Given the description of an element on the screen output the (x, y) to click on. 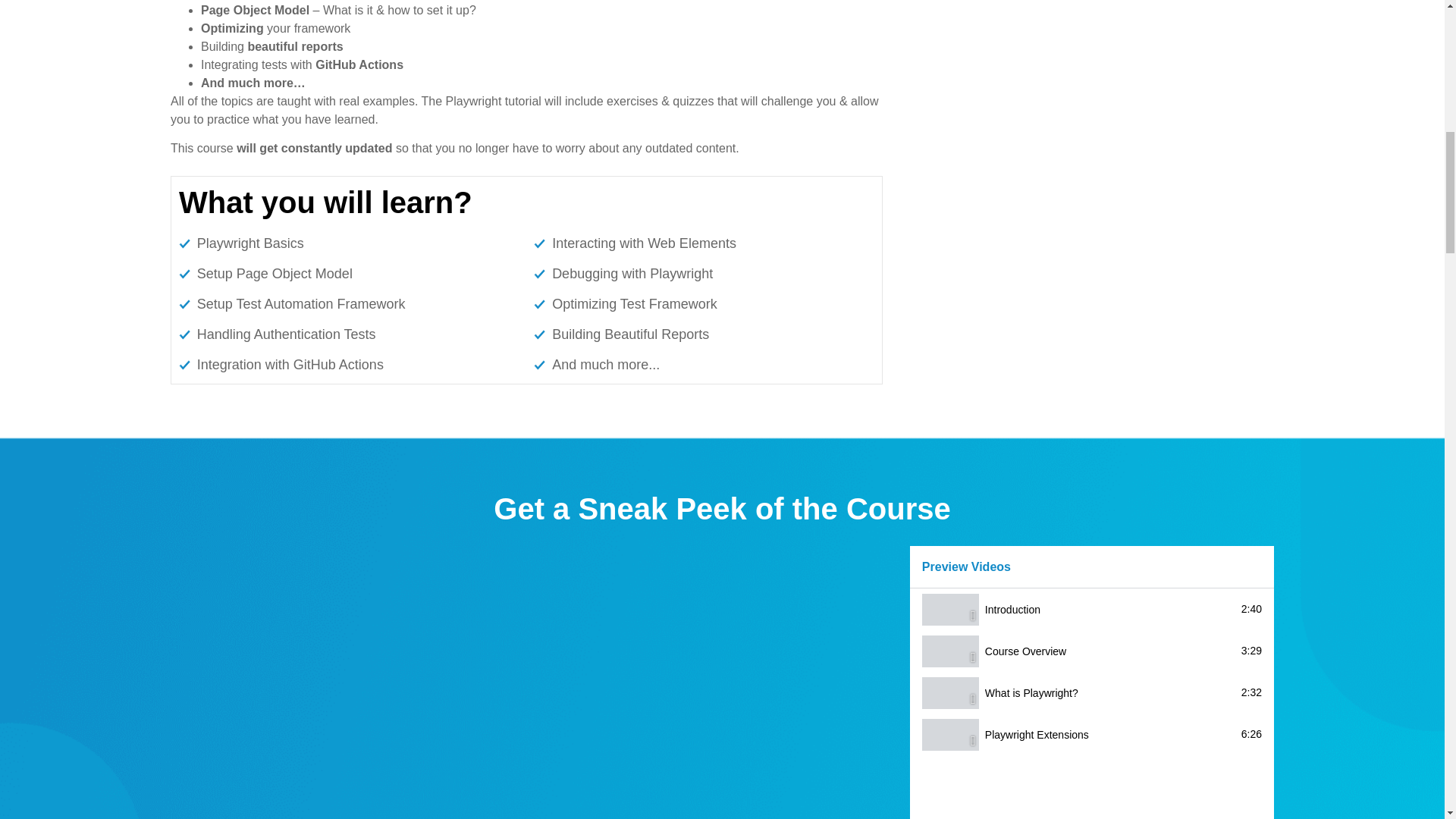
What is Playwright? (1031, 693)
Course Overview (1025, 651)
Introduction (1013, 609)
Playwright Extensions (1037, 734)
Introduction (1109, 609)
Playwright Extensions (1109, 735)
Course Overview (1109, 651)
What is Playwright? (1109, 693)
